Given the description of an element on the screen output the (x, y) to click on. 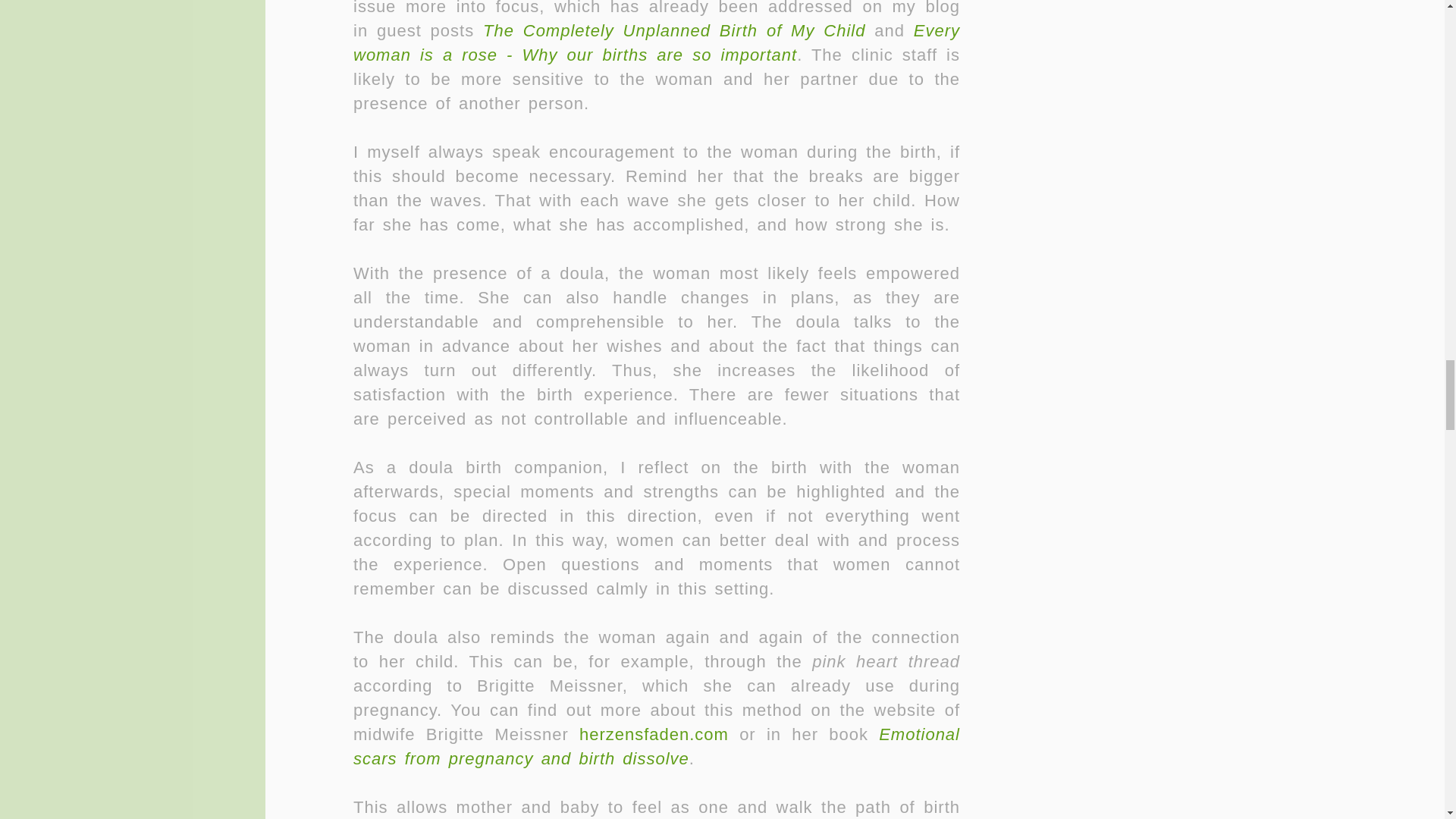
The Completely Unplanned Birth of My Child (673, 30)
herzensfaden.com (654, 733)
Every woman is a rose - Why our births are so important (656, 42)
